Given the description of an element on the screen output the (x, y) to click on. 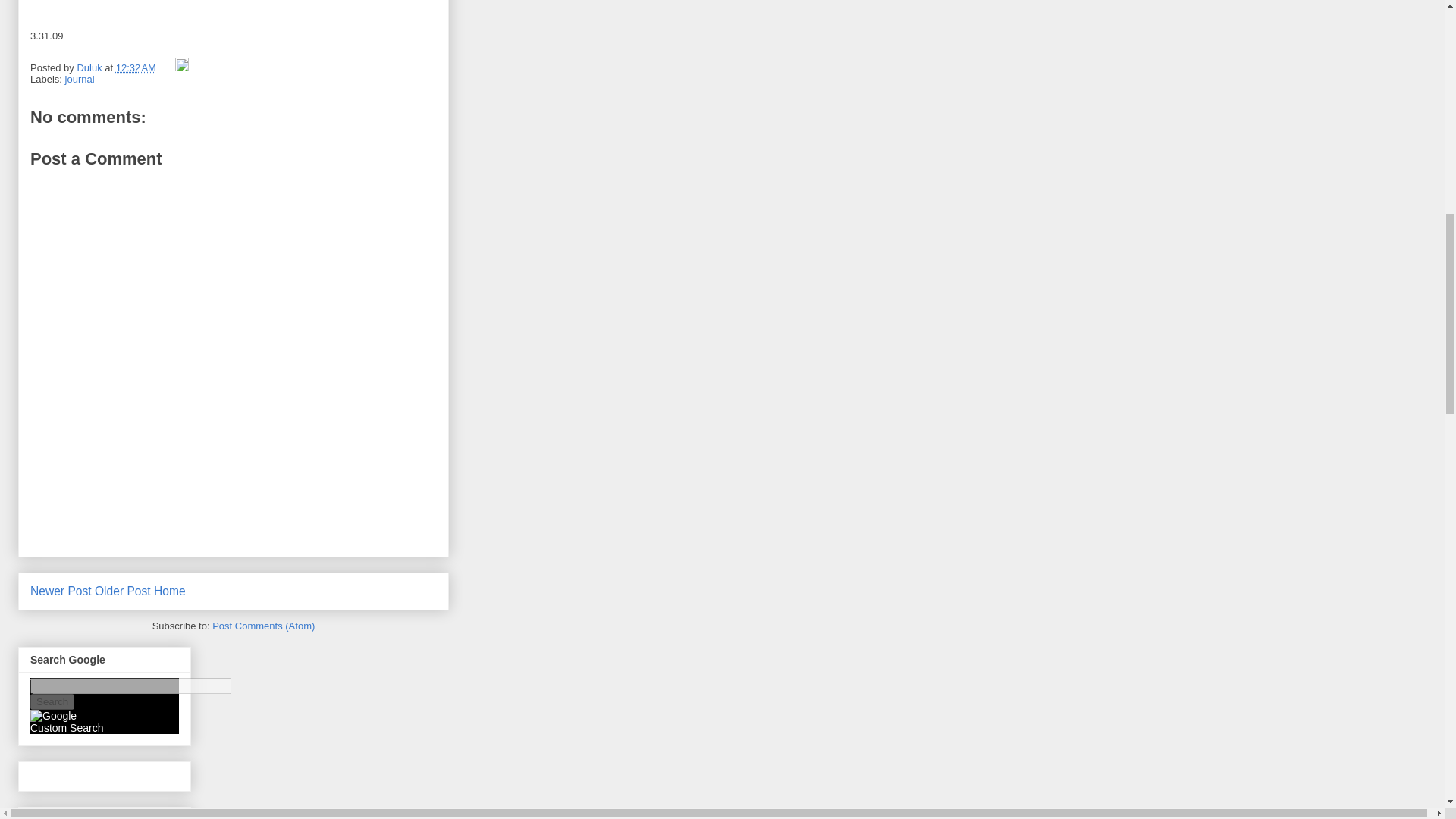
Email Post (167, 67)
Search (52, 701)
Newer Post (60, 590)
Duluk (90, 67)
Search (52, 701)
Older Post (122, 590)
permanent link (135, 67)
author profile (90, 67)
Edit Post (181, 67)
journal (79, 79)
Newer Post (60, 590)
Home (170, 590)
Older Post (122, 590)
